Given the description of an element on the screen output the (x, y) to click on. 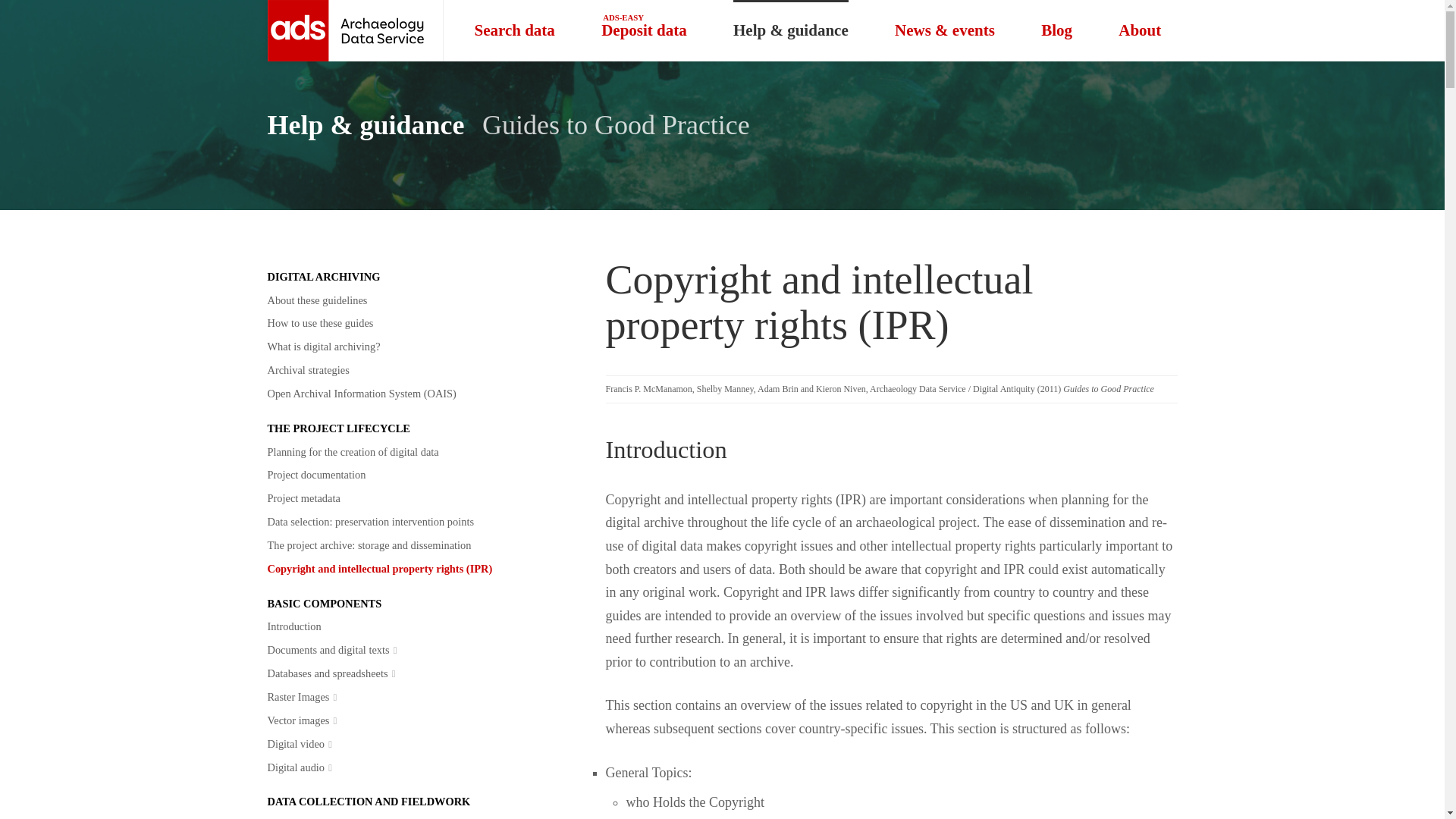
What is digital archiving? (323, 346)
Archival strategies (307, 370)
Planning for the creation of digital data (352, 451)
Blog (1056, 30)
The project archive: storage and dissemination (368, 545)
What is digital archiving? (323, 346)
About these guidelines (316, 300)
Project metadata (302, 498)
Introduction (293, 626)
How to use these guides (319, 323)
